Given the description of an element on the screen output the (x, y) to click on. 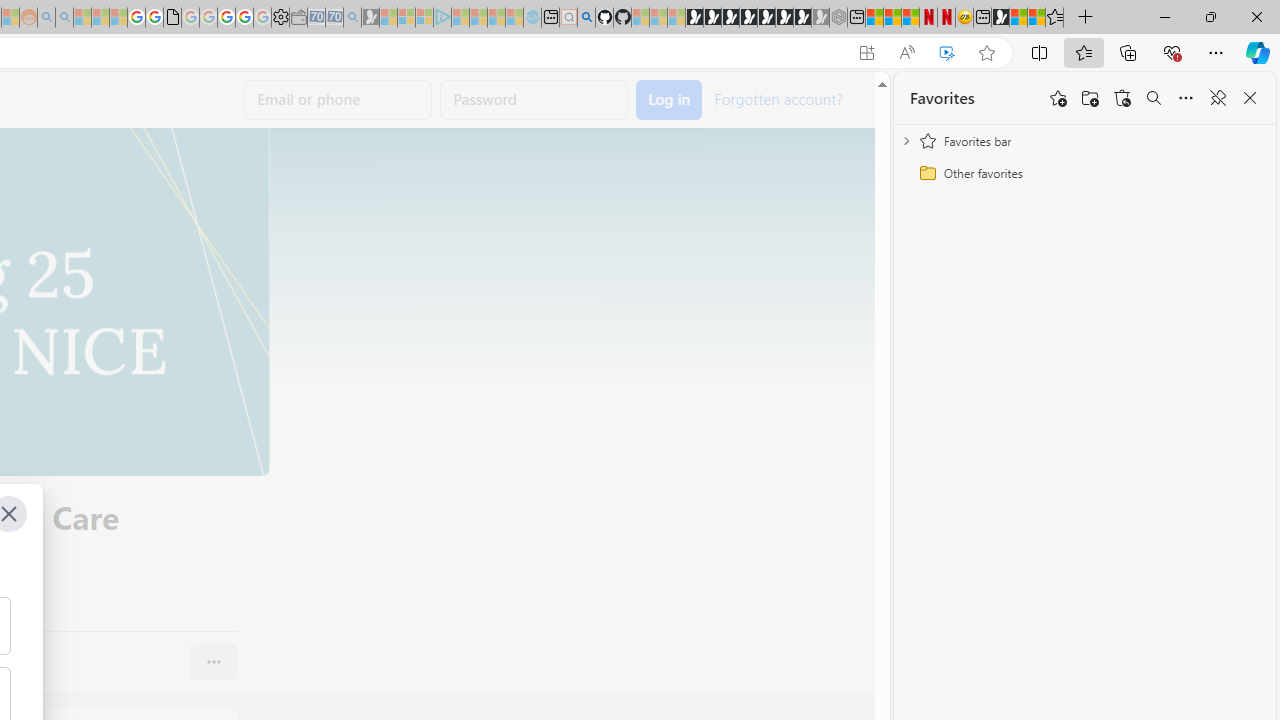
github - Search (586, 17)
Accessible login button (669, 99)
Password (534, 99)
